Given the description of an element on the screen output the (x, y) to click on. 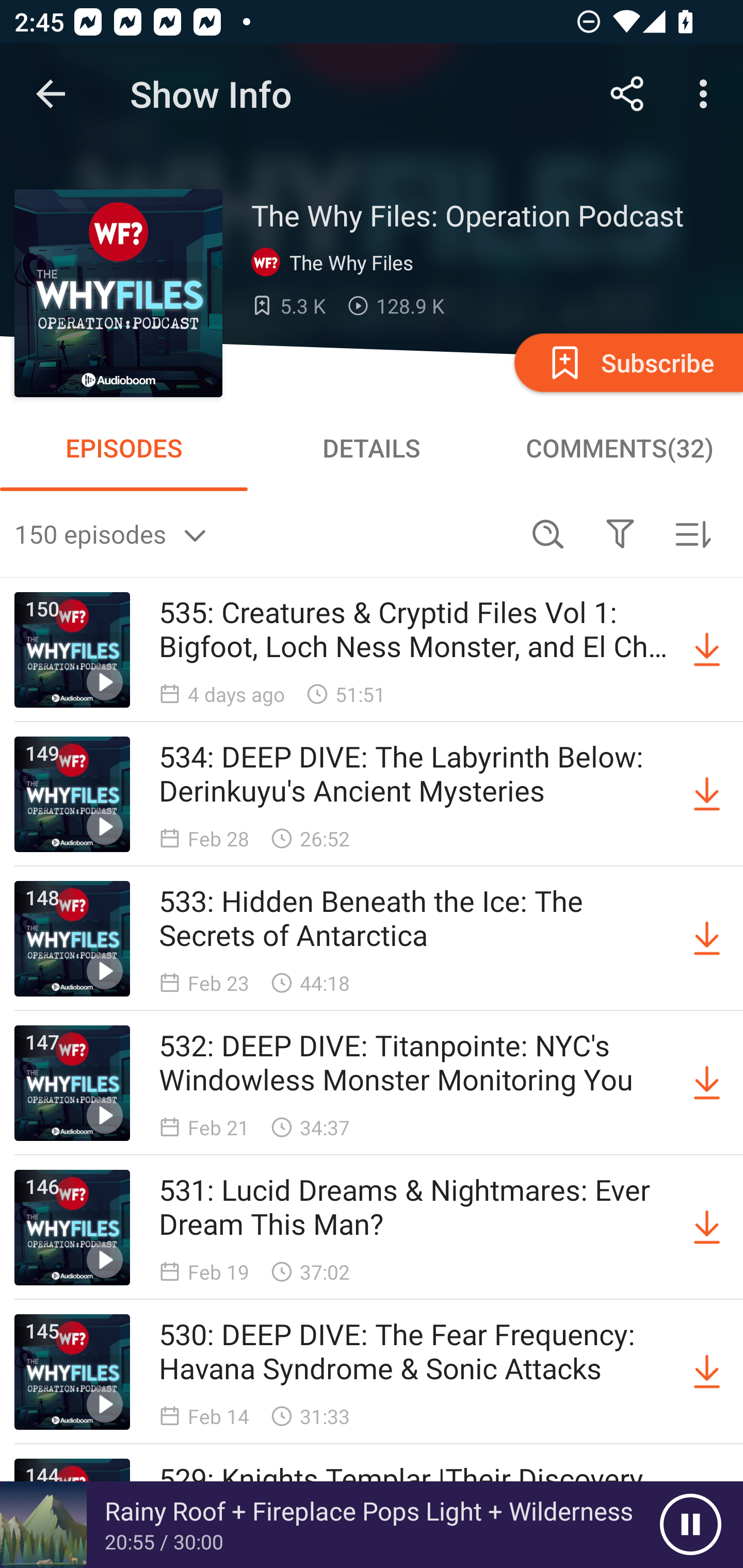
Navigate up (50, 93)
Share (626, 93)
More options (706, 93)
The Why Files (336, 262)
Subscribe (627, 361)
EPISODES (123, 447)
DETAILS (371, 447)
COMMENTS(32) (619, 447)
150 episodes  (262, 533)
 Search (547, 533)
 (619, 533)
 Sorted by newest first (692, 533)
Download (706, 649)
Download (706, 793)
Download (706, 939)
Download (706, 1083)
Download (706, 1227)
Download (706, 1371)
Pause (690, 1524)
